Given the description of an element on the screen output the (x, y) to click on. 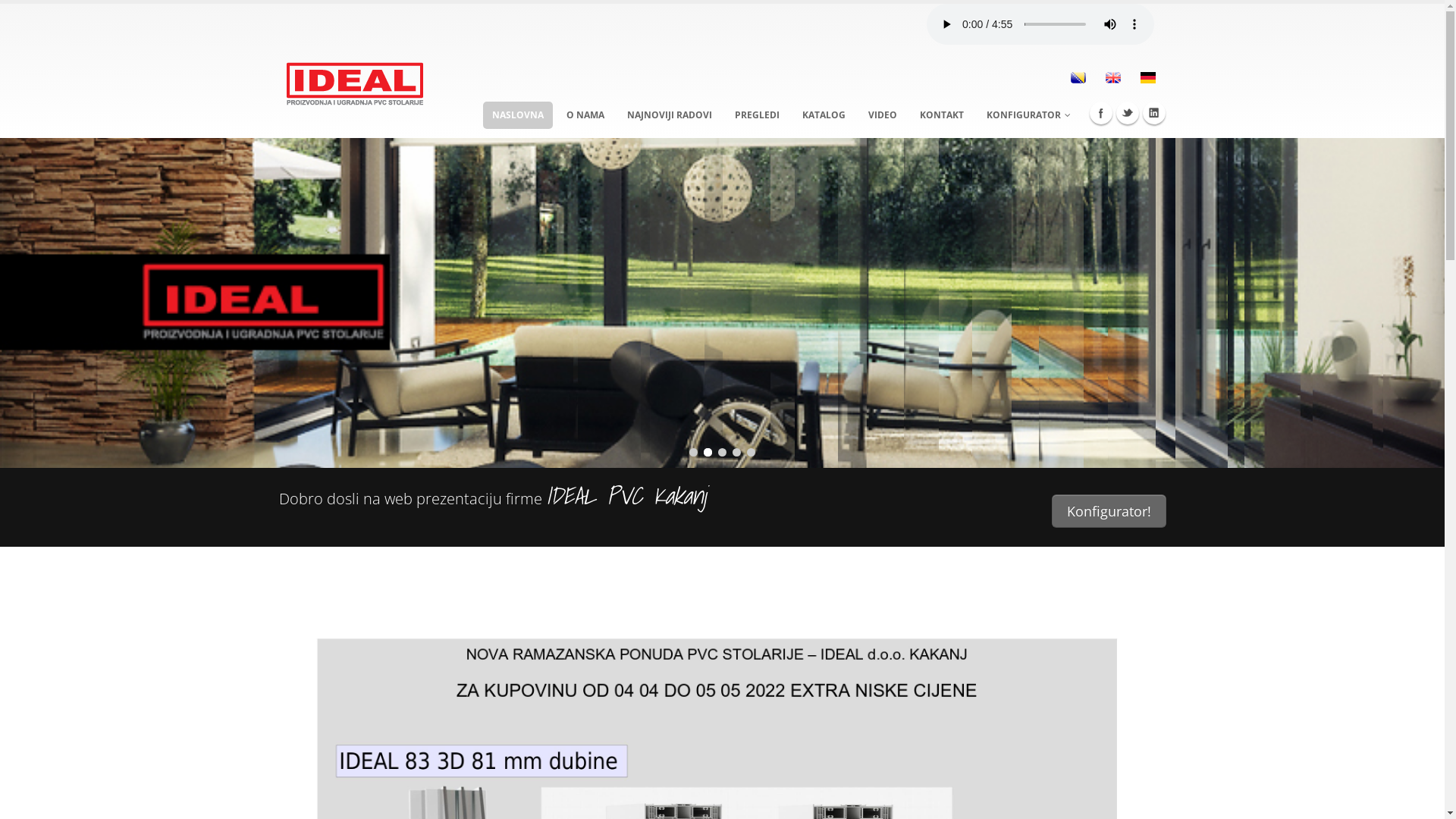
NAJNOVIJI RADOVI Element type: text (668, 114)
KONFIGURATOR Element type: text (1027, 114)
NASLOVNA Element type: text (517, 114)
O NAMA Element type: text (584, 114)
Linkedin Element type: text (1153, 112)
VIDEO Element type: text (881, 114)
Twitter Element type: text (1127, 112)
KATALOG Element type: text (823, 114)
Facebook Element type: text (1099, 112)
Home Element type: hover (354, 82)
Konfigurator! Element type: text (1108, 510)
PREGLEDI Element type: text (755, 114)
KONTAKT Element type: text (941, 114)
